Given the description of an element on the screen output the (x, y) to click on. 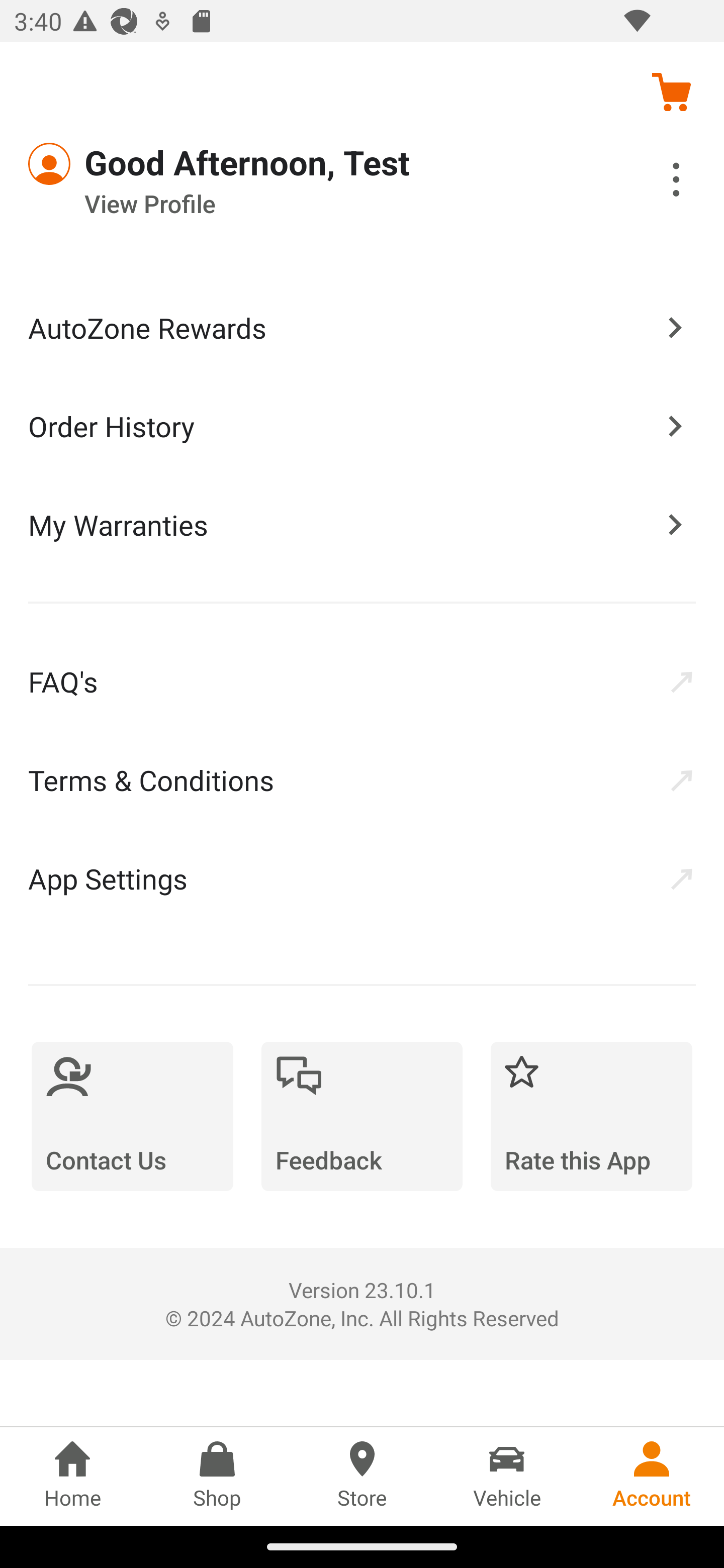
Cart, no items  (670, 91)
Good  (100, 163)
︙ (654, 182)
View Profile (306, 203)
AutoZone Rewards  (361, 327)
Order History  (361, 425)
My Warranties  (361, 524)
FAQ's  (361, 680)
Terms & Conditions  (361, 779)
App Settings  (361, 878)
Contact Us (132, 1116)
Feedback (361, 1116)
Rate this App (591, 1116)
Home (72, 1475)
Shop (216, 1475)
Store (361, 1475)
Vehicle (506, 1475)
Account (651, 1475)
